Given the description of an element on the screen output the (x, y) to click on. 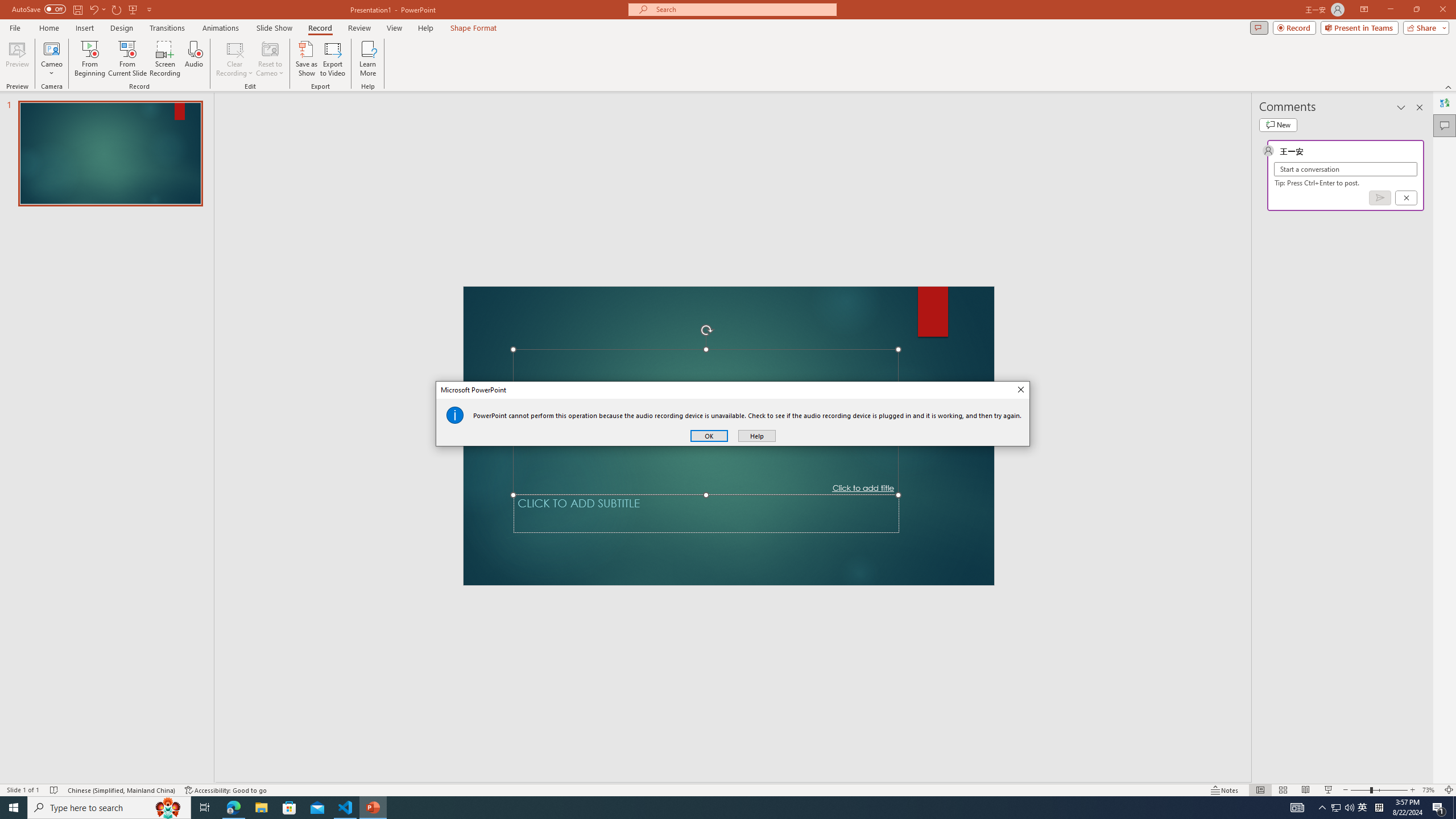
Ribbon Display Options (1364, 9)
Learn More (368, 58)
From Beginning... (89, 58)
Cameo (51, 58)
Restore Down (1416, 9)
Slide Sorter (1282, 790)
Insert (83, 28)
Redo (117, 9)
Visual Studio Code - 1 running window (345, 807)
Customize Quick Access Toolbar (149, 9)
Spell Check No Errors (54, 790)
